Given the description of an element on the screen output the (x, y) to click on. 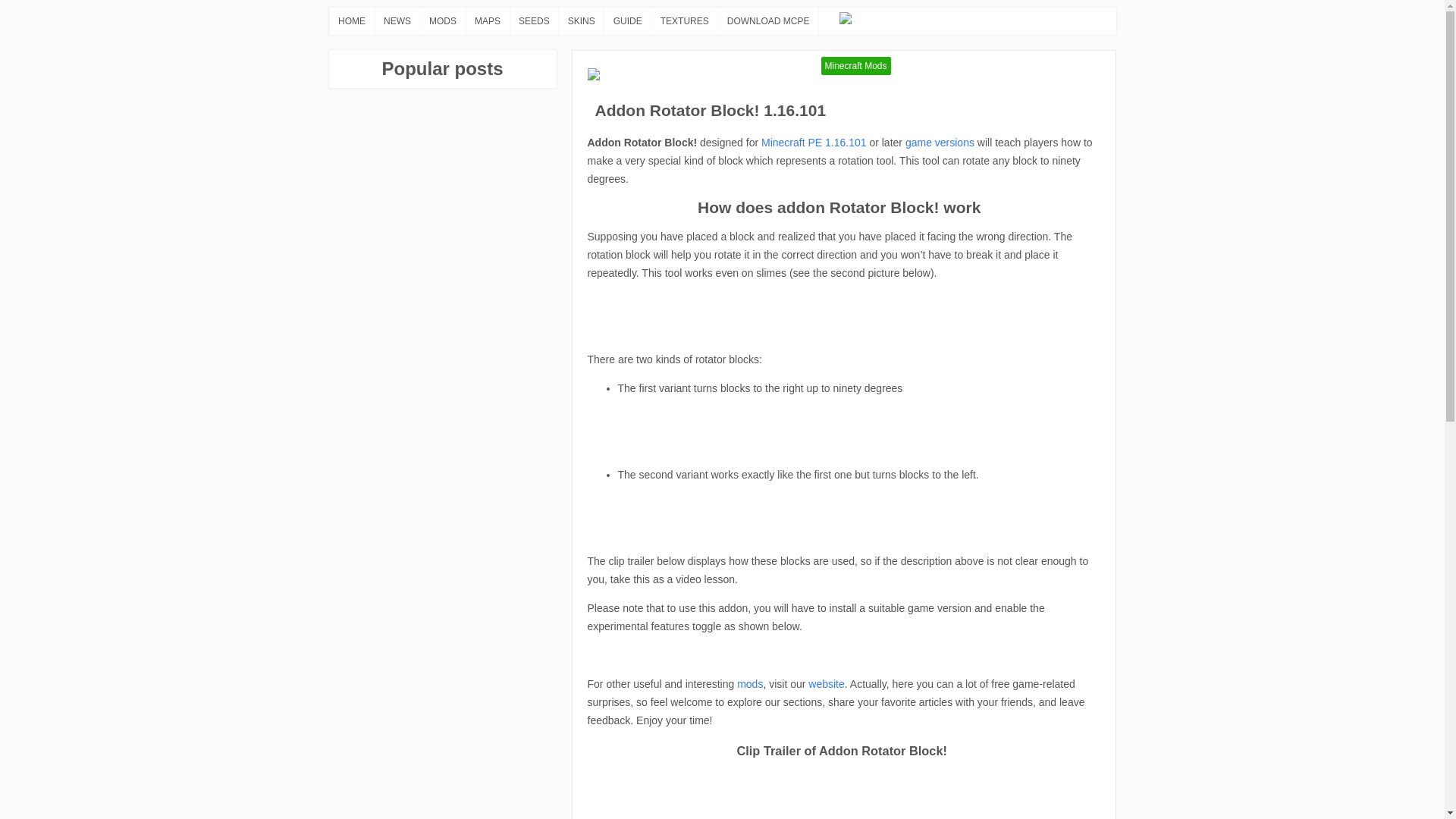
TEXTURES (685, 20)
GUIDE (627, 20)
website (826, 684)
NEWS (397, 20)
game versions (939, 142)
DOWNLOAD MCPE (767, 20)
mods (749, 684)
SEEDS (534, 20)
MODS (443, 20)
HOME (351, 20)
